Given the description of an element on the screen output the (x, y) to click on. 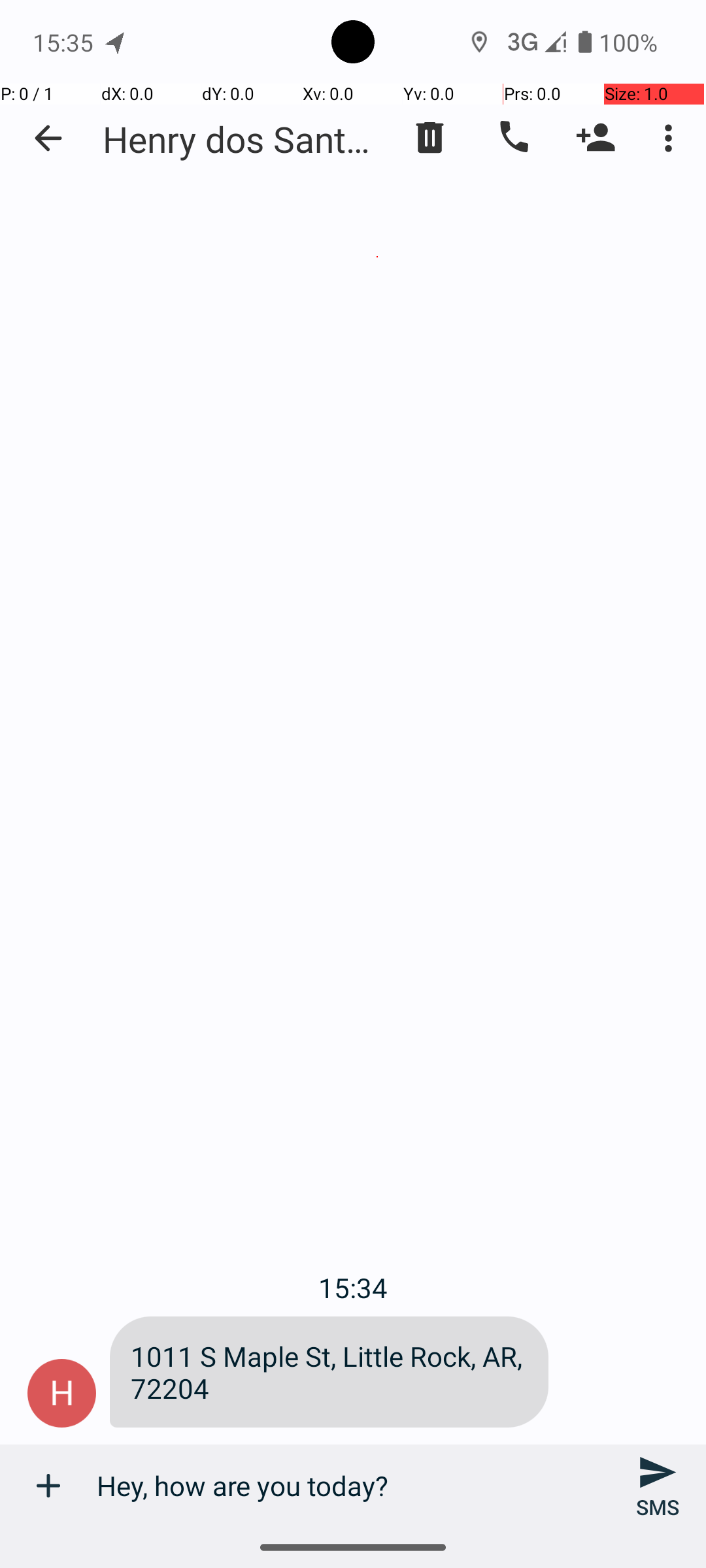
Henry dos Santos Element type: android.widget.TextView (241, 138)
Hey, how are you today? Element type: android.widget.EditText (352, 1485)
1011 S Maple St, Little Rock, AR, 72204 Element type: android.widget.TextView (328, 1371)
